Given the description of an element on the screen output the (x, y) to click on. 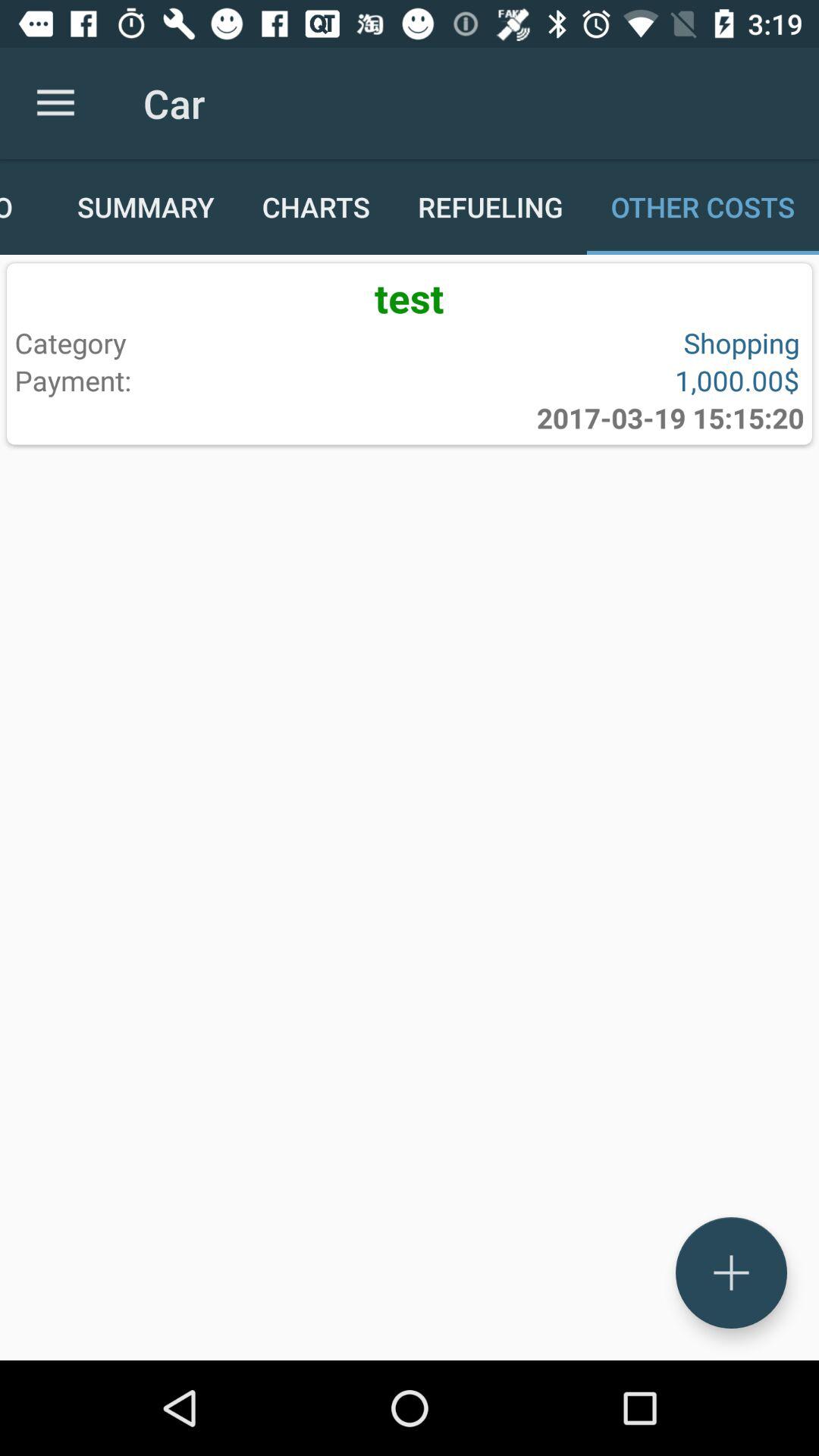
open 1,000.00$ icon (601, 380)
